Given the description of an element on the screen output the (x, y) to click on. 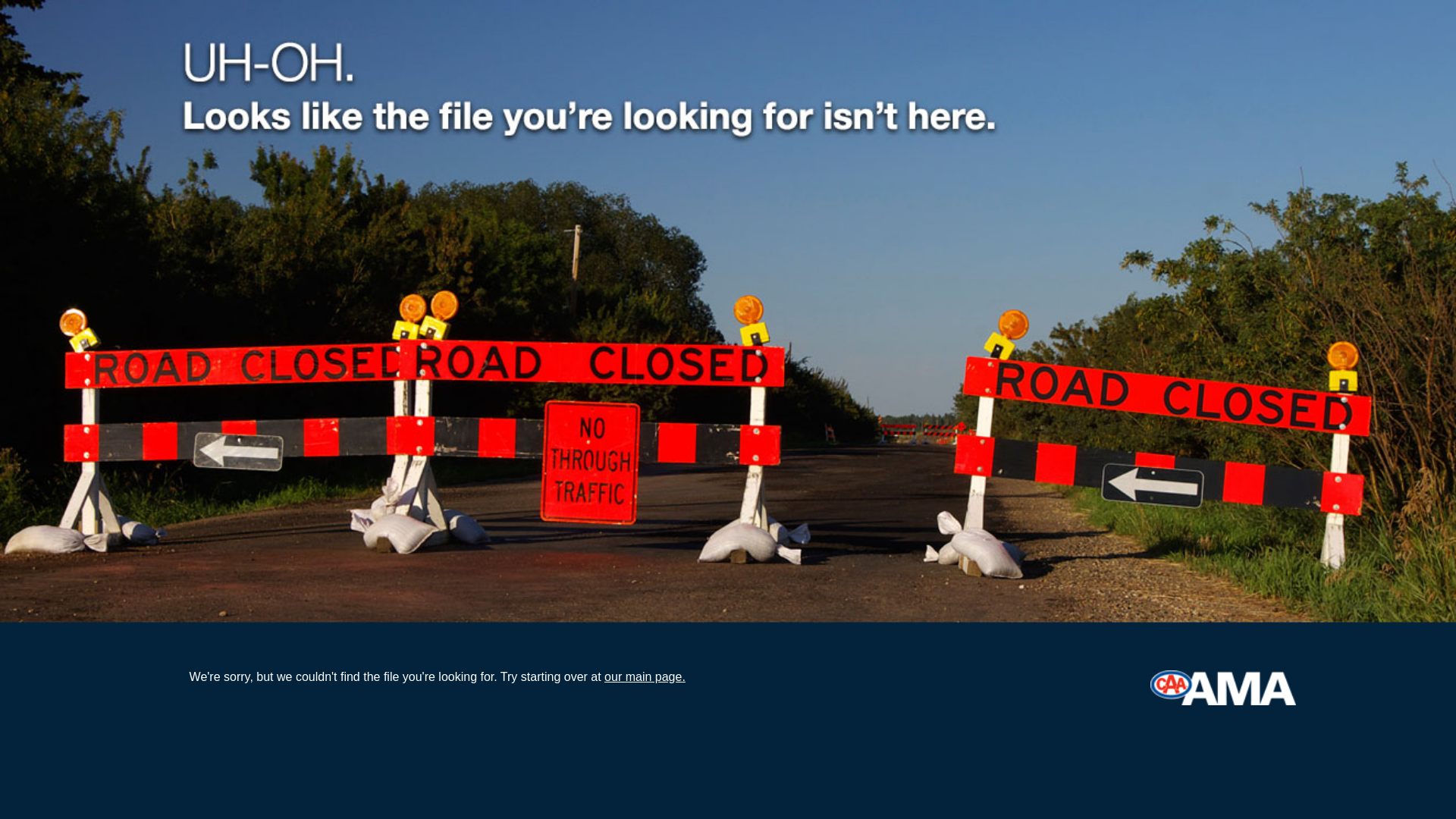
our main page. Element type: text (644, 676)
